Given the description of an element on the screen output the (x, y) to click on. 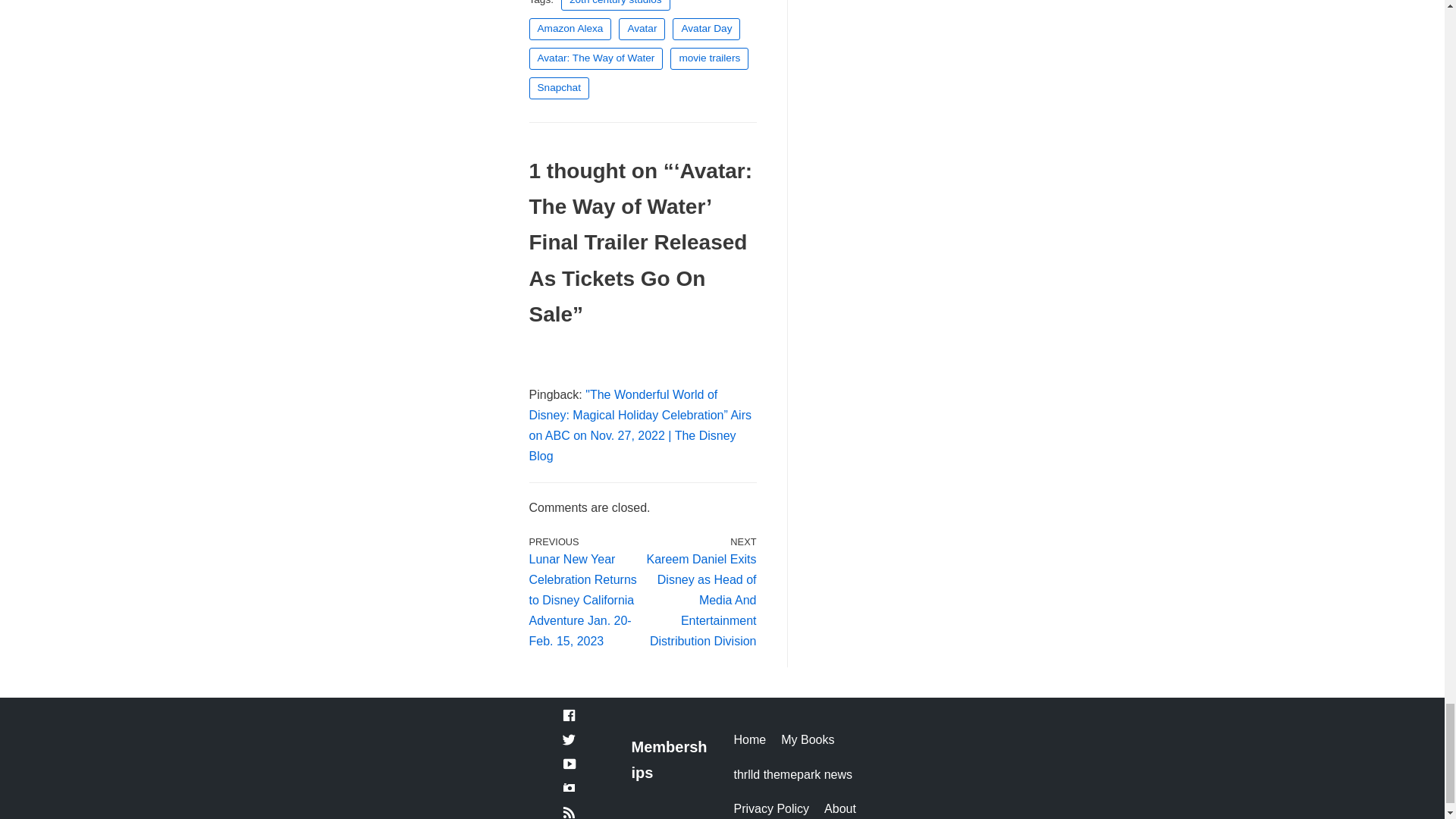
Avatar: The Way of Water (596, 58)
Avatar (641, 29)
Avatar Day (705, 29)
20th century studios (614, 5)
movie trailers (708, 58)
Amazon Alexa (570, 29)
